Given the description of an element on the screen output the (x, y) to click on. 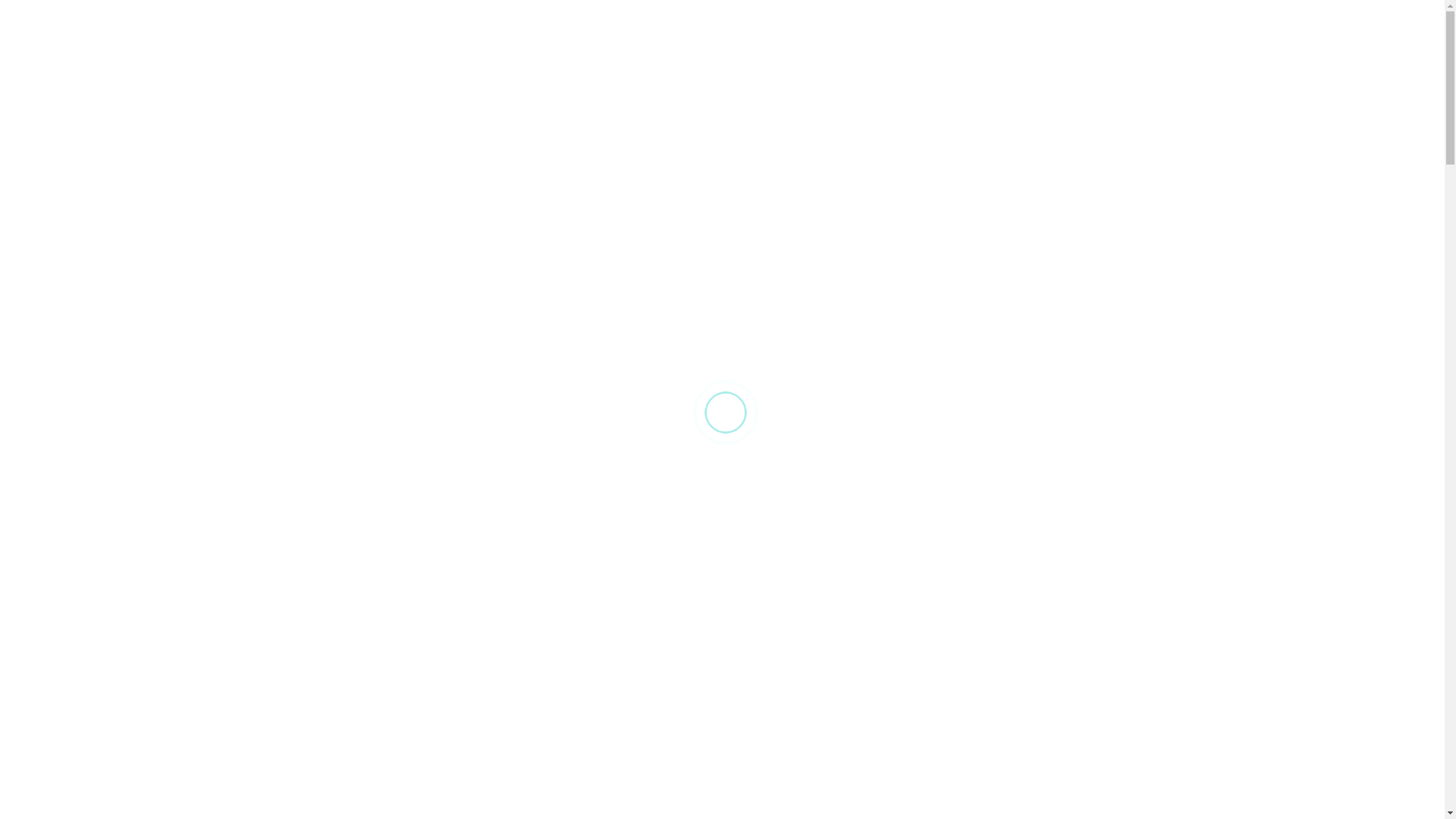
13 Element type: text (624, 464)
+375 (29) 188-10-36 Element type: text (1125, 134)
16 Element type: text (624, 259)
0 Element type: text (1196, 115)
36 Element type: text (624, 705)
7695 Element type: text (1116, 107)
